Given the description of an element on the screen output the (x, y) to click on. 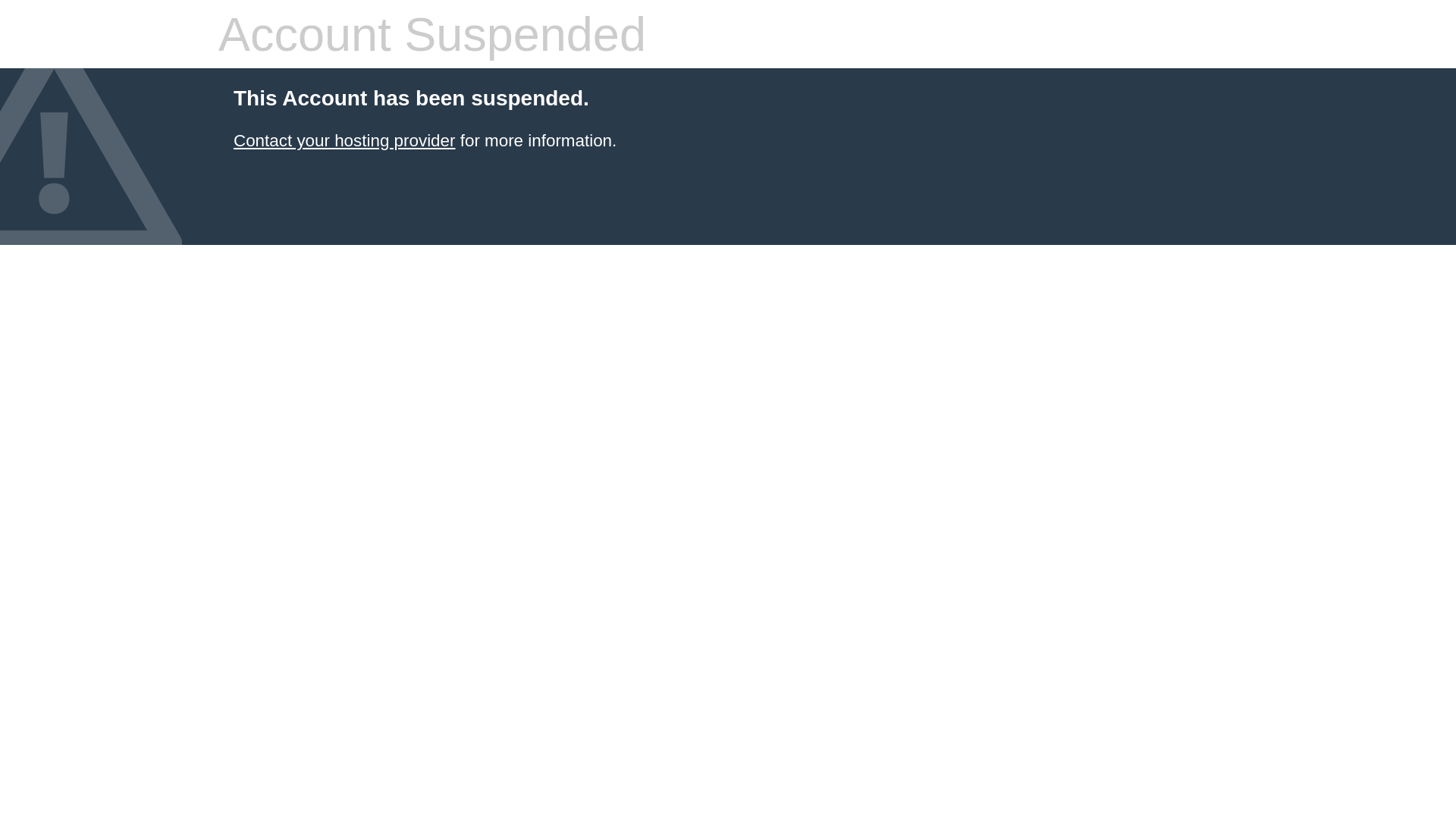
Contact your hosting provider Element type: text (344, 140)
